Given the description of an element on the screen output the (x, y) to click on. 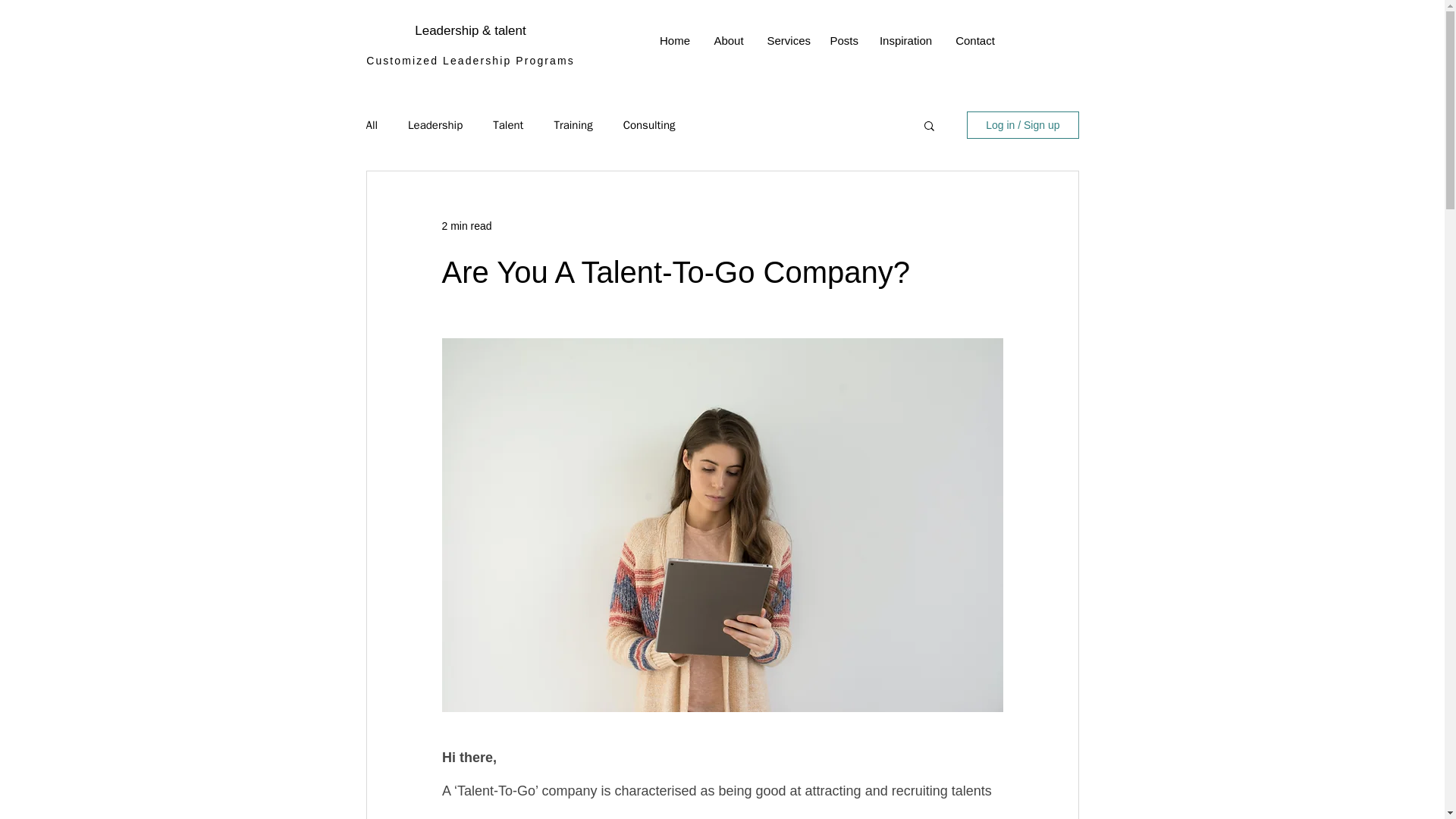
Contact (974, 40)
Home (674, 40)
Posts (842, 40)
Leadership (435, 124)
Customized Leadership Programs (470, 60)
Talent (507, 124)
Services (786, 40)
About (728, 40)
Inspiration (905, 40)
2 min read (466, 225)
